Given the description of an element on the screen output the (x, y) to click on. 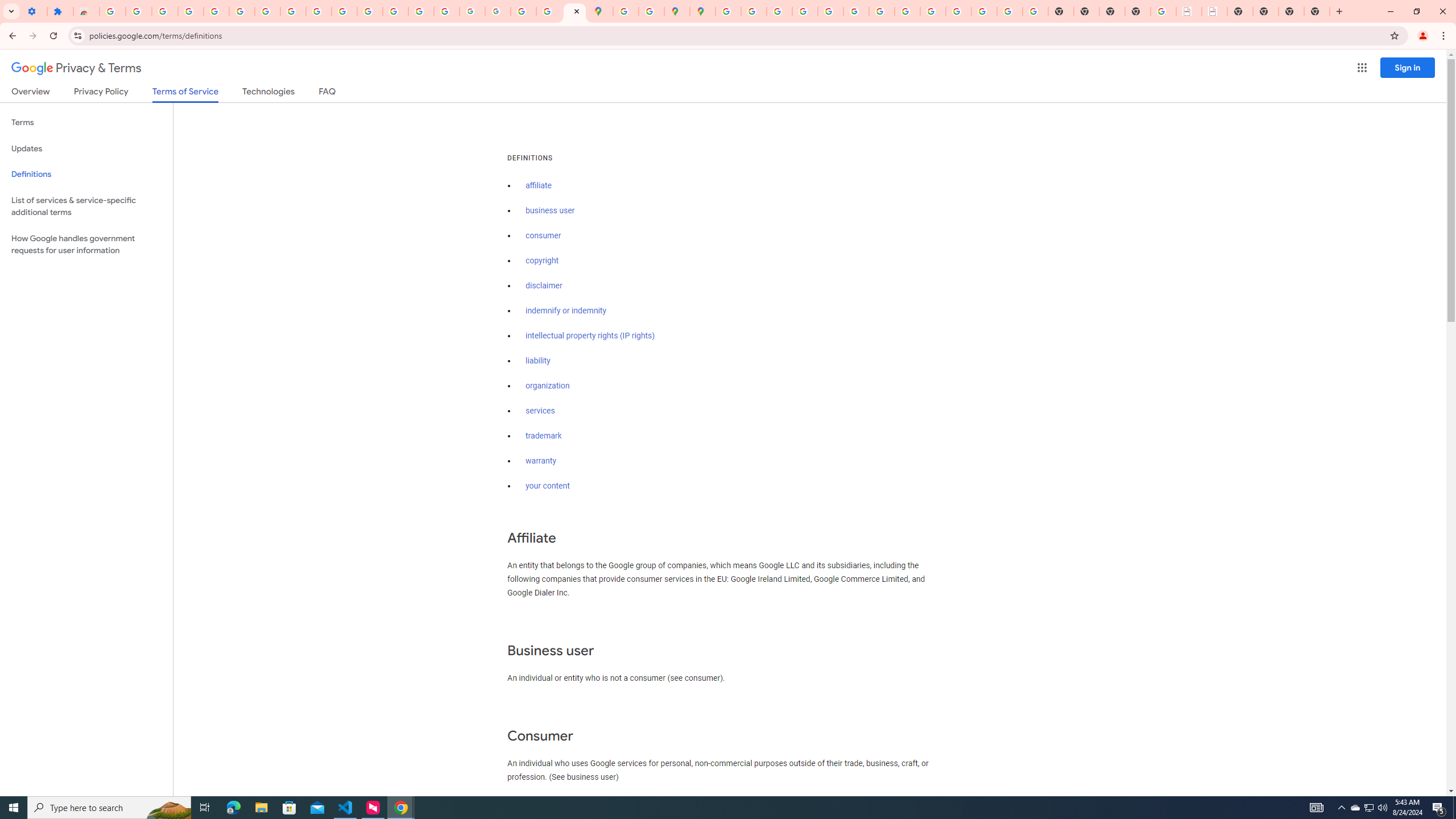
warranty (540, 461)
affiliate (538, 185)
Delete photos & videos - Computer - Google Photos Help (165, 11)
disclaimer (543, 285)
indemnify or indemnity (565, 311)
consumer (543, 235)
